Given the description of an element on the screen output the (x, y) to click on. 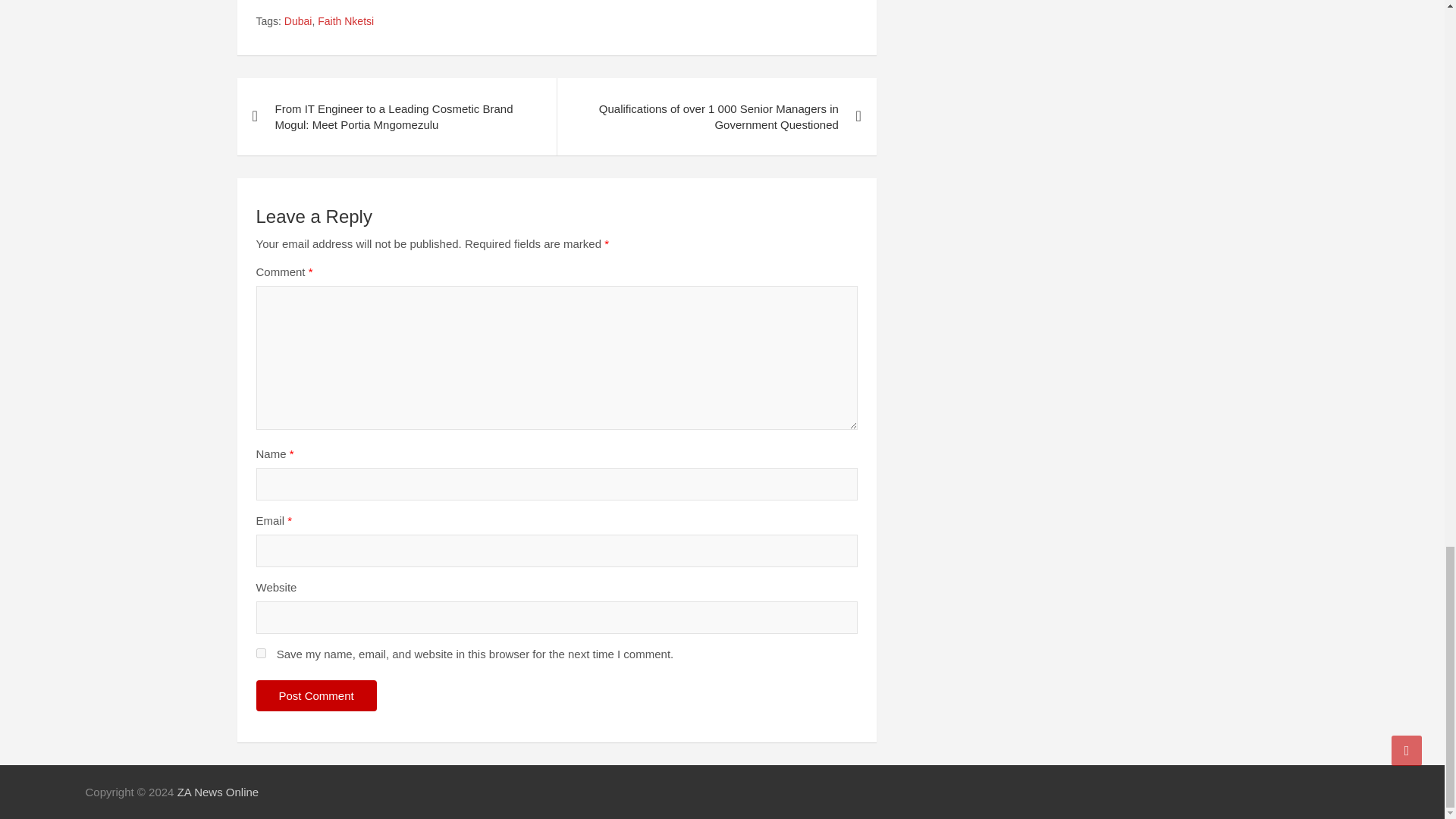
Post Comment (316, 695)
ZA News Online (218, 791)
yes (261, 653)
Faith Nketsi (345, 21)
Post Comment (316, 695)
Dubai (298, 21)
